Given the description of an element on the screen output the (x, y) to click on. 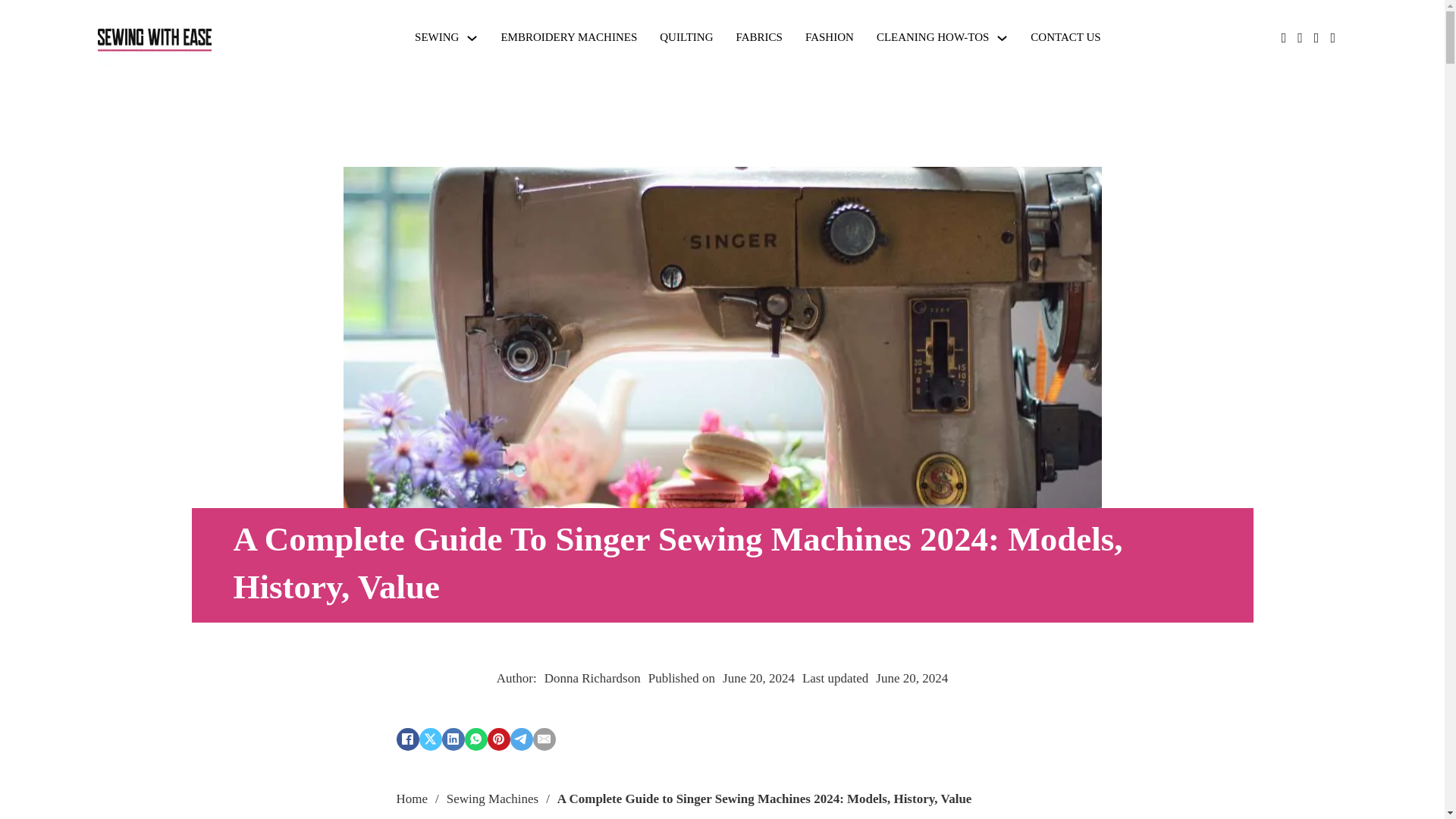
CONTACT US (1065, 37)
EMBROIDERY MACHINES (568, 37)
SEWING (436, 37)
QUILTING (686, 37)
FASHION (829, 37)
CLEANING HOW-TOS (932, 37)
FABRICS (759, 37)
